Given the description of an element on the screen output the (x, y) to click on. 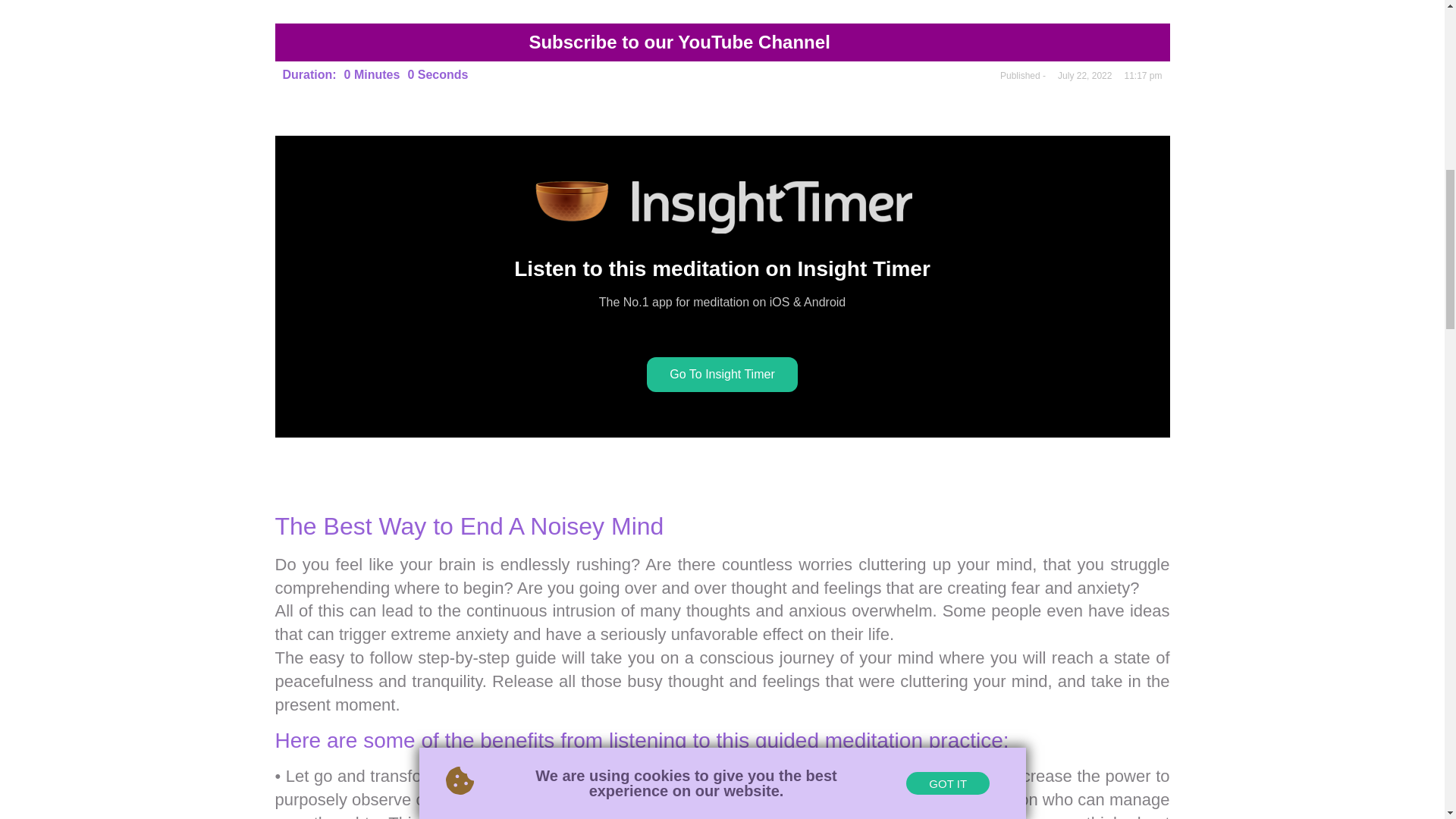
Insight-Timer-Logo-Long-on-Black (721, 206)
